Given the description of an element on the screen output the (x, y) to click on. 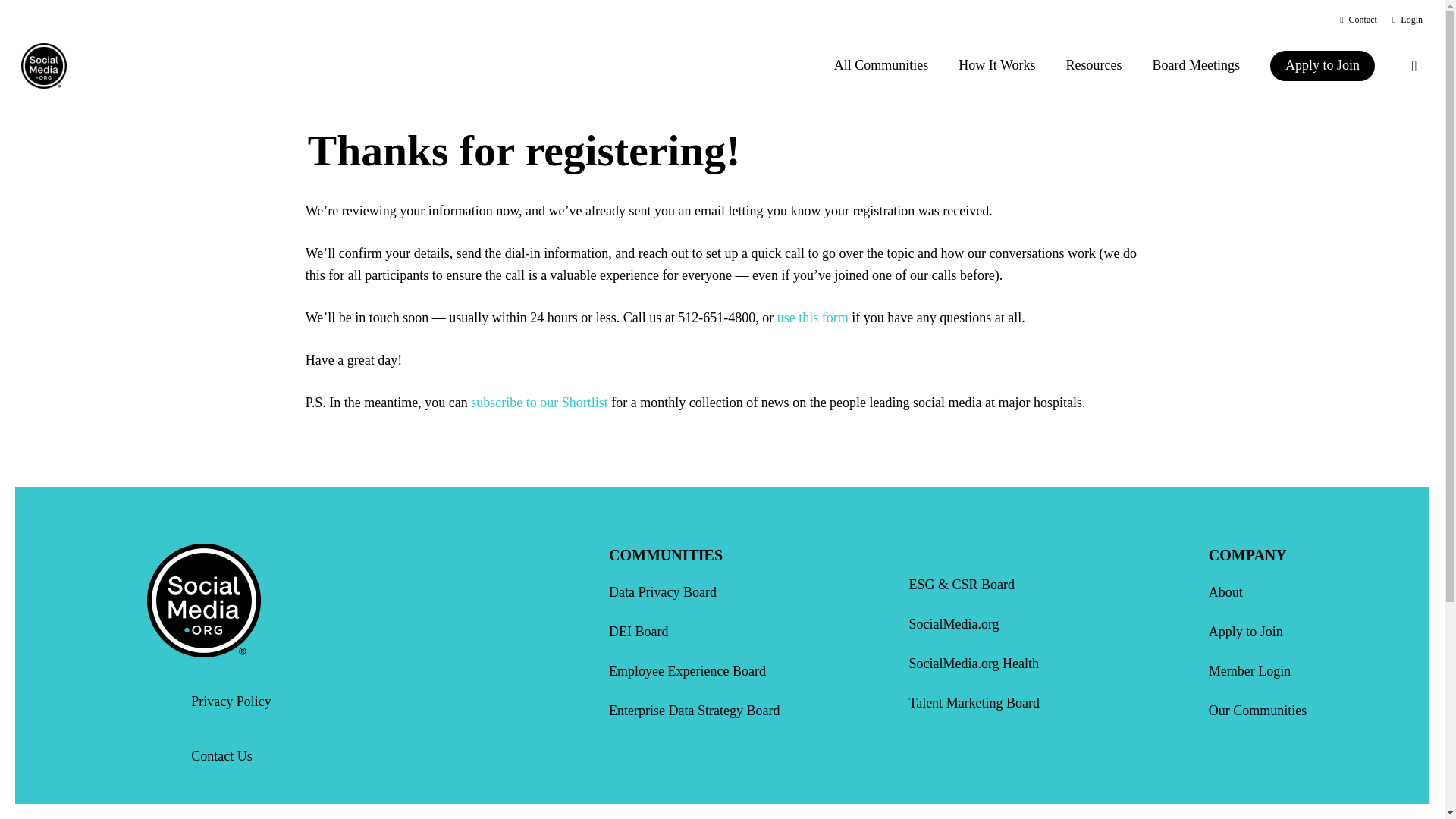
Board Meetings (1196, 65)
Contact (1358, 19)
All Communities (880, 65)
Resources (1094, 65)
Login (1406, 19)
How It Works (996, 65)
